Given the description of an element on the screen output the (x, y) to click on. 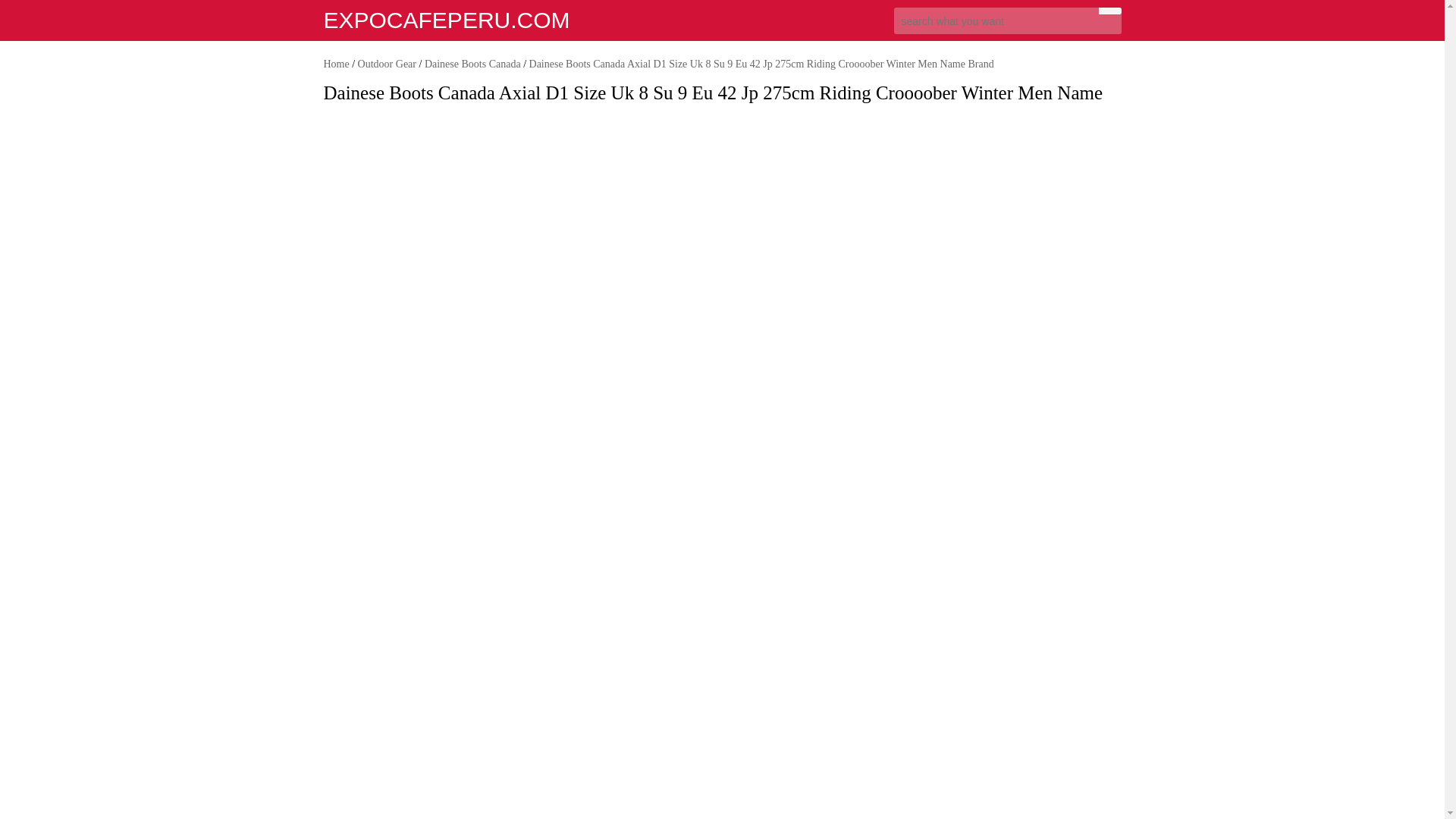
EXPOCAFEPERU.COM (446, 20)
Home (336, 63)
Dainese Boots Canada (473, 63)
Outdoor Gear (387, 63)
